Given the description of an element on the screen output the (x, y) to click on. 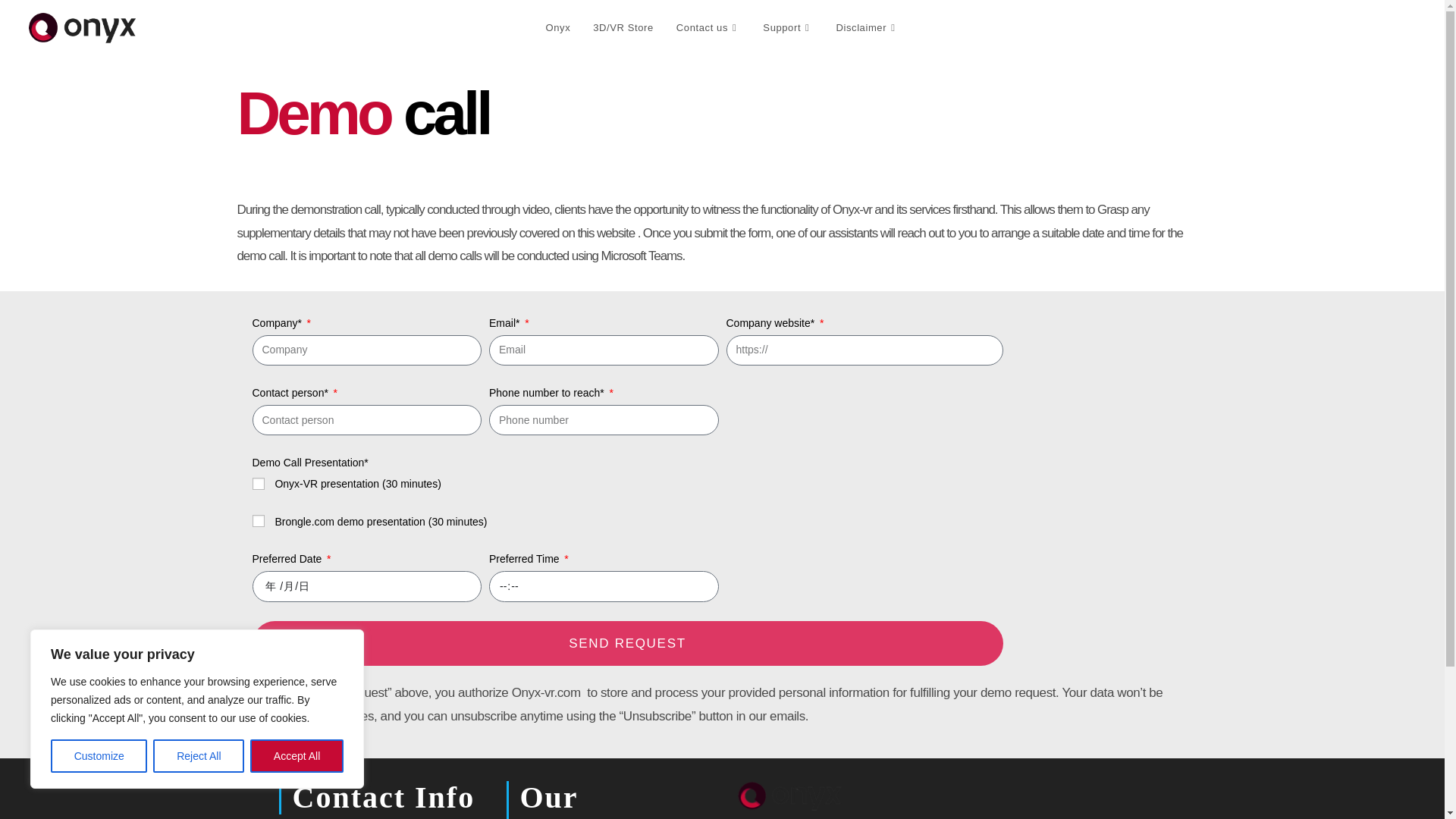
Accept All (296, 756)
Disclaimer (867, 28)
Support (787, 28)
Contact us (708, 28)
Customize (98, 756)
SEND REQUEST (627, 642)
Reject All (198, 756)
